Given the description of an element on the screen output the (x, y) to click on. 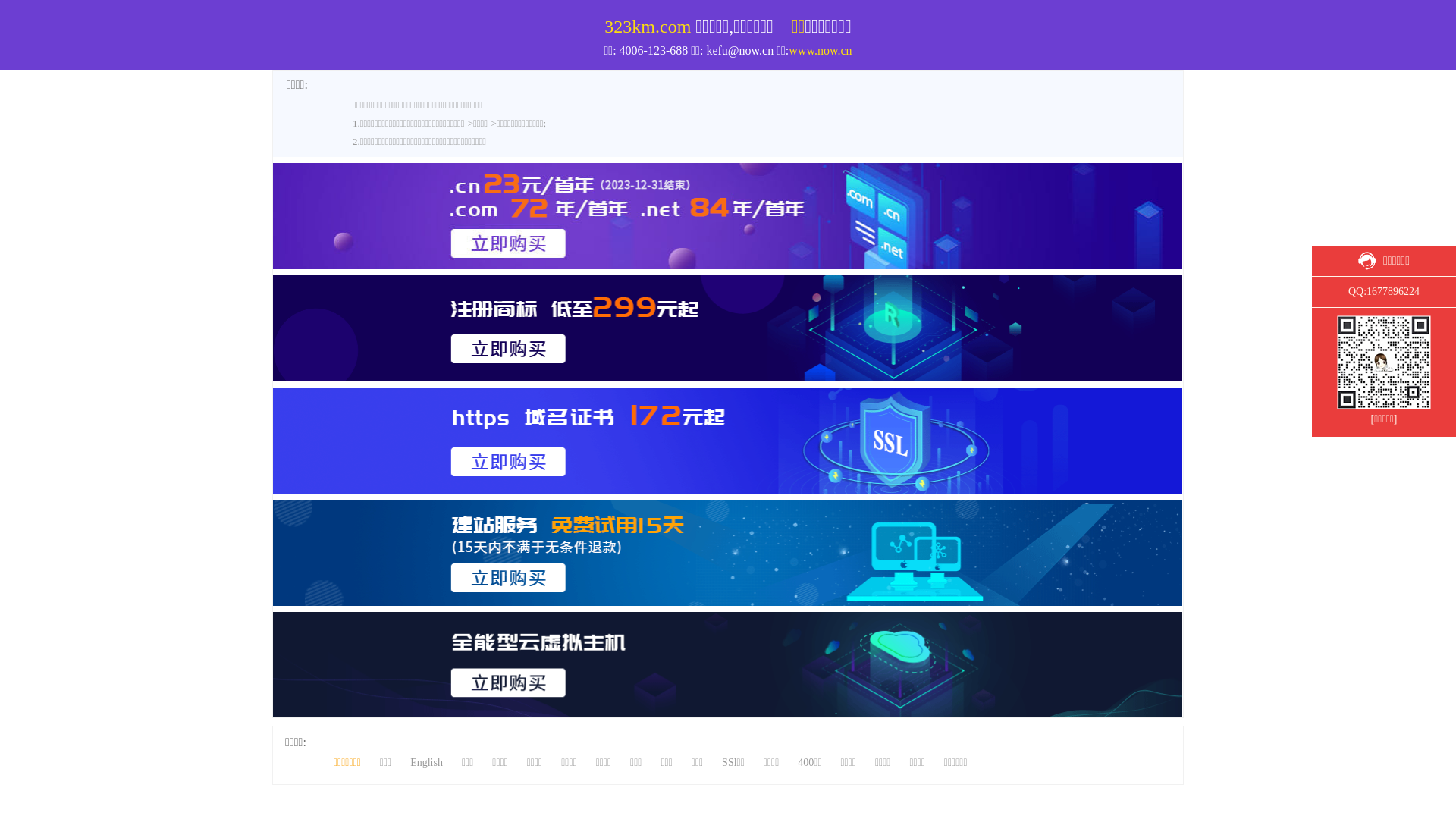
English Element type: text (426, 762)
English Element type: text (1323, 6)
www.now.cn Element type: text (819, 49)
